Given the description of an element on the screen output the (x, y) to click on. 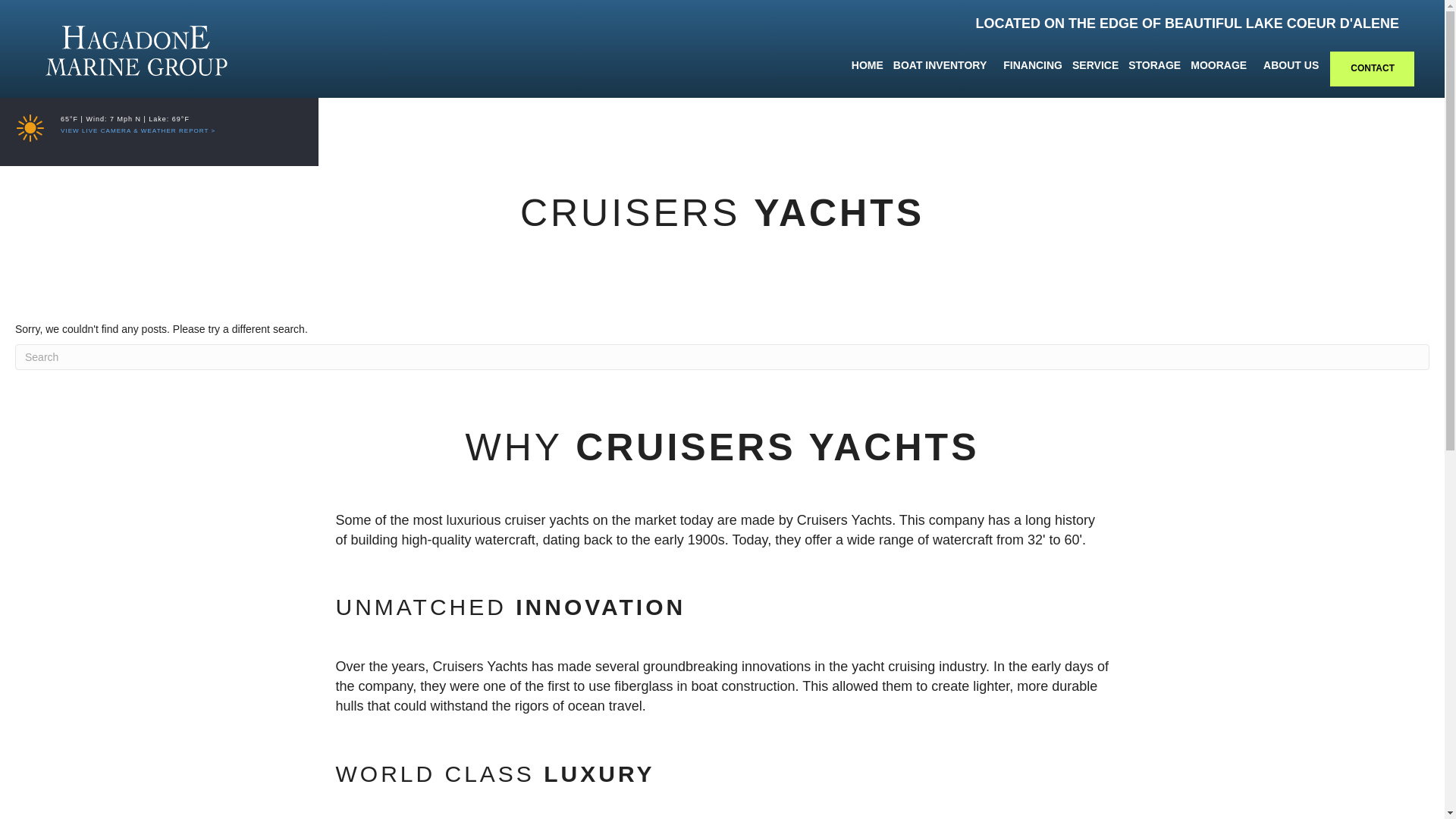
BOAT INVENTORY (942, 65)
HOME (867, 65)
Hagadone Marine Group Logo (136, 50)
Type and press Enter to search. (721, 356)
